Given the description of an element on the screen output the (x, y) to click on. 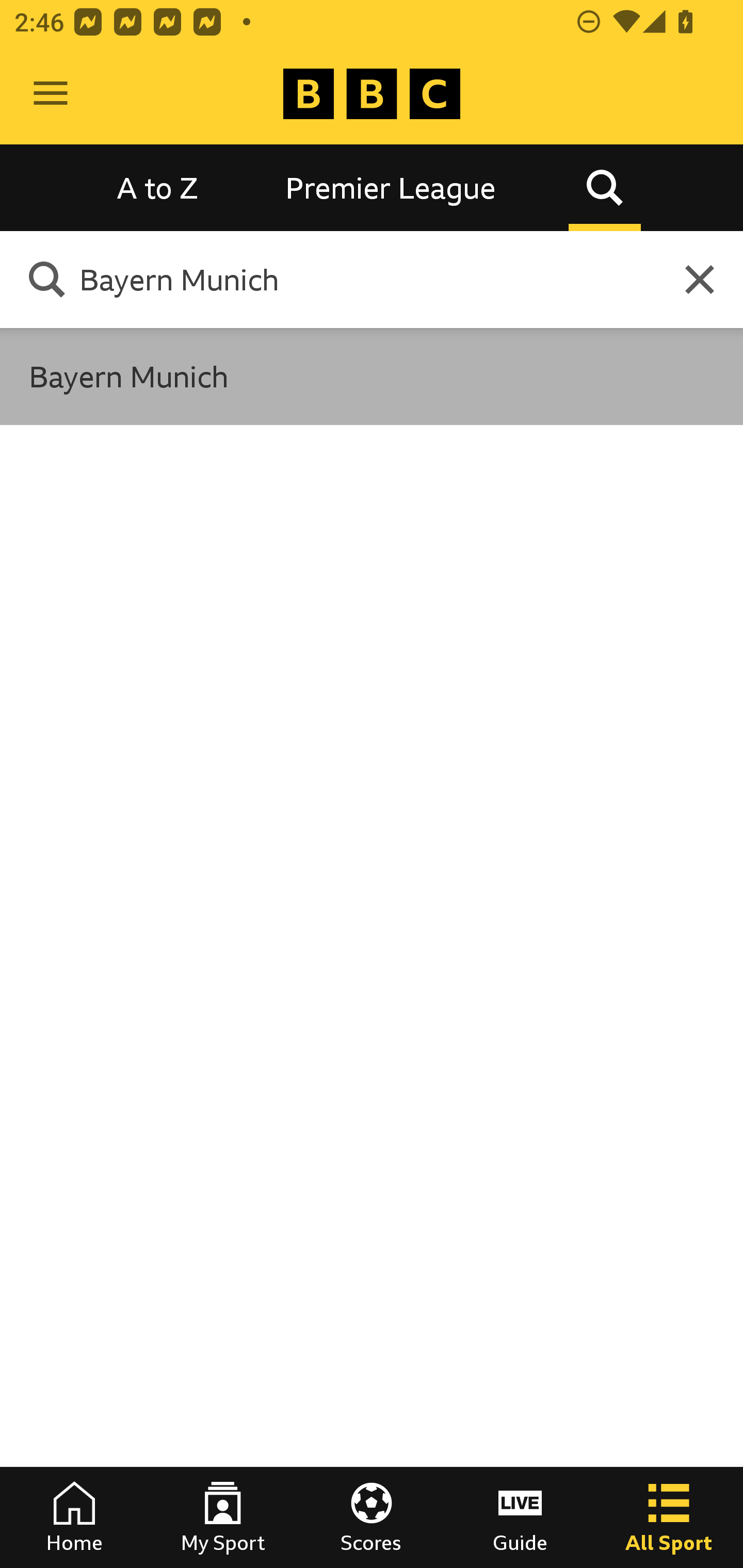
Open Menu (50, 93)
A to Z (157, 187)
Premier League (390, 187)
Bayern Munich (360, 278)
clear (699, 279)
Bayern Munich (371, 375)
Home (74, 1517)
My Sport (222, 1517)
Scores (371, 1517)
Guide (519, 1517)
